Given the description of an element on the screen output the (x, y) to click on. 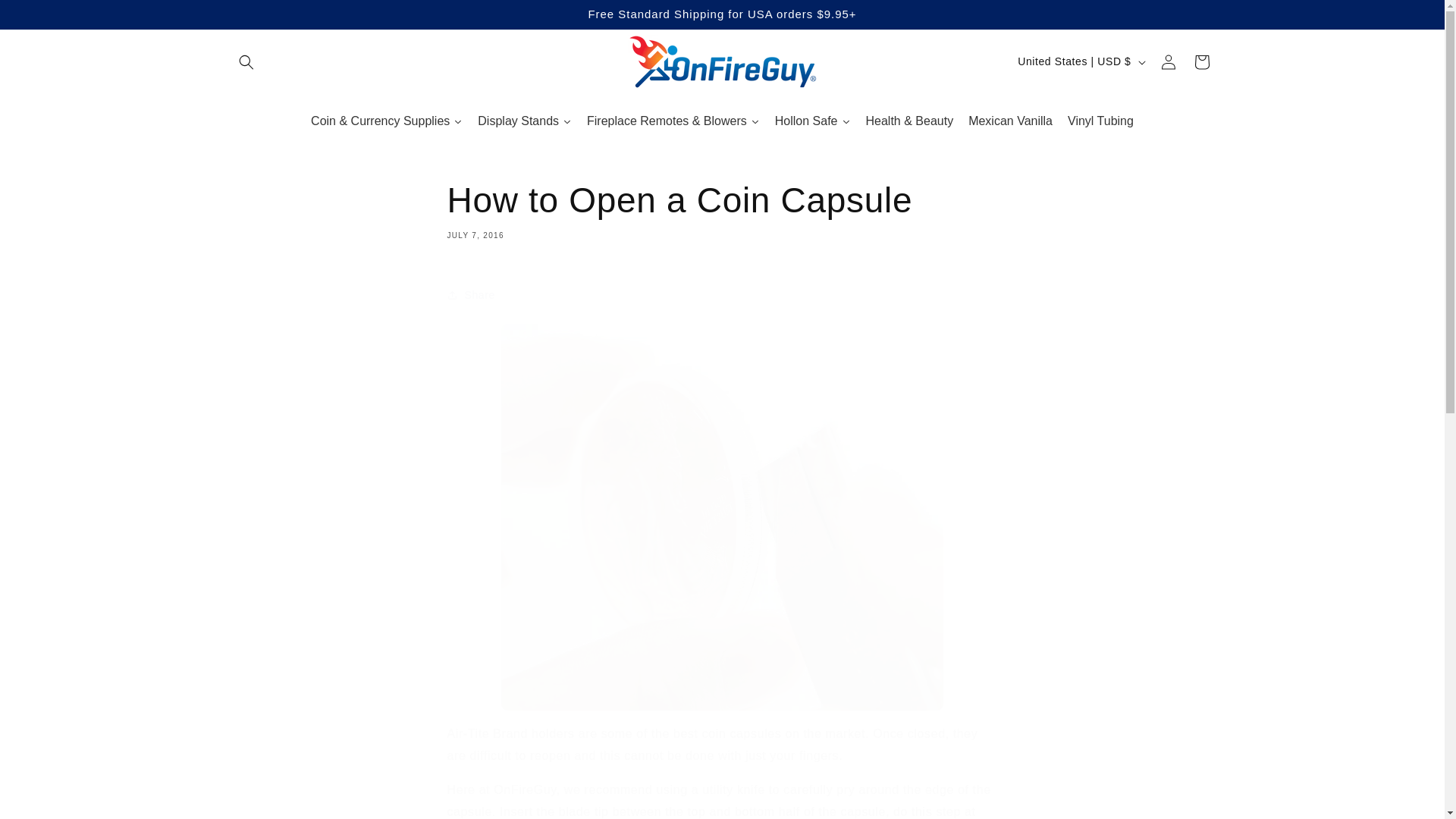
Vinyl Tubing (1100, 121)
Hollon Safe (813, 121)
Display Stands (524, 121)
Mexican Vanilla (1009, 121)
Mexican Vanilla (721, 209)
Cart (1009, 121)
Hollon Safe (1201, 61)
Share (813, 121)
Log in (721, 295)
